Given the description of an element on the screen output the (x, y) to click on. 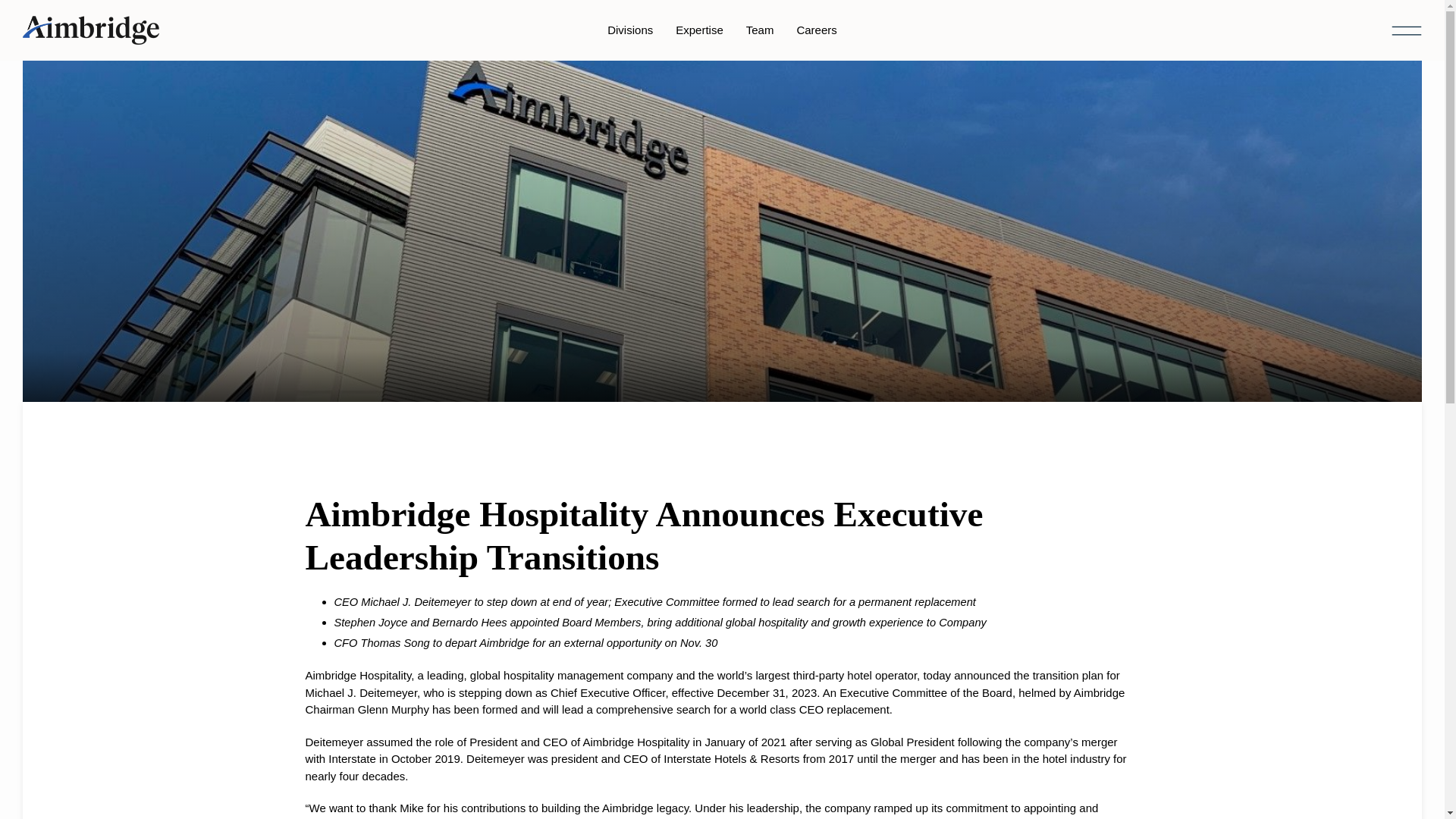
Careers (815, 30)
Divisions (629, 30)
Expertise (699, 30)
